Given the description of an element on the screen output the (x, y) to click on. 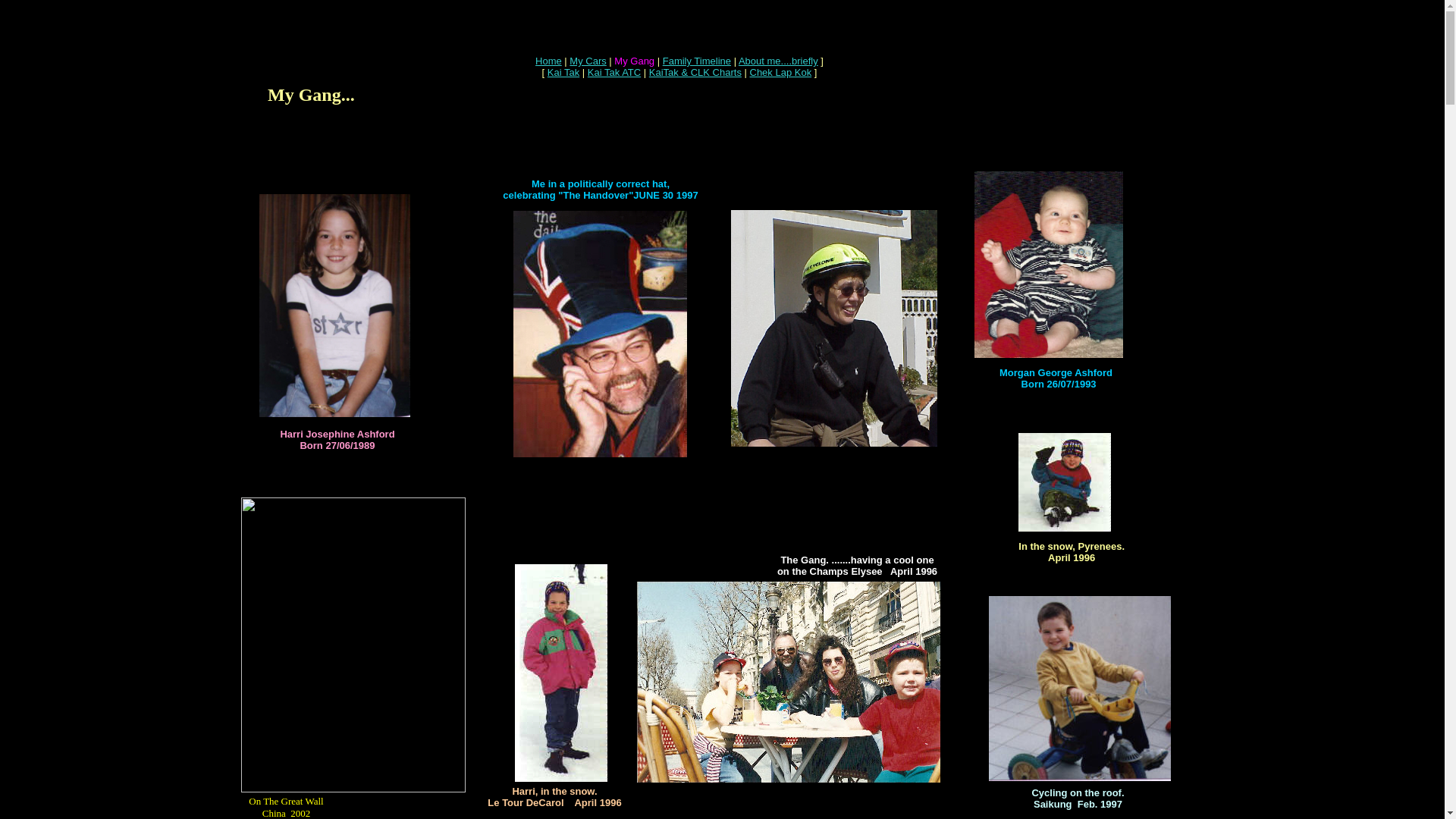
My Cars Element type: text (587, 60)
Chek Lap Kok Element type: text (780, 72)
About me....briefly Element type: text (778, 60)
Home Element type: text (548, 60)
KaiTak & CLK Charts Element type: text (695, 72)
  Element type: text (380, 162)
Kai Tak Element type: text (563, 72)
Family Timeline Element type: text (696, 60)
Kai Tak ATC Element type: text (613, 72)
